Given the description of an element on the screen output the (x, y) to click on. 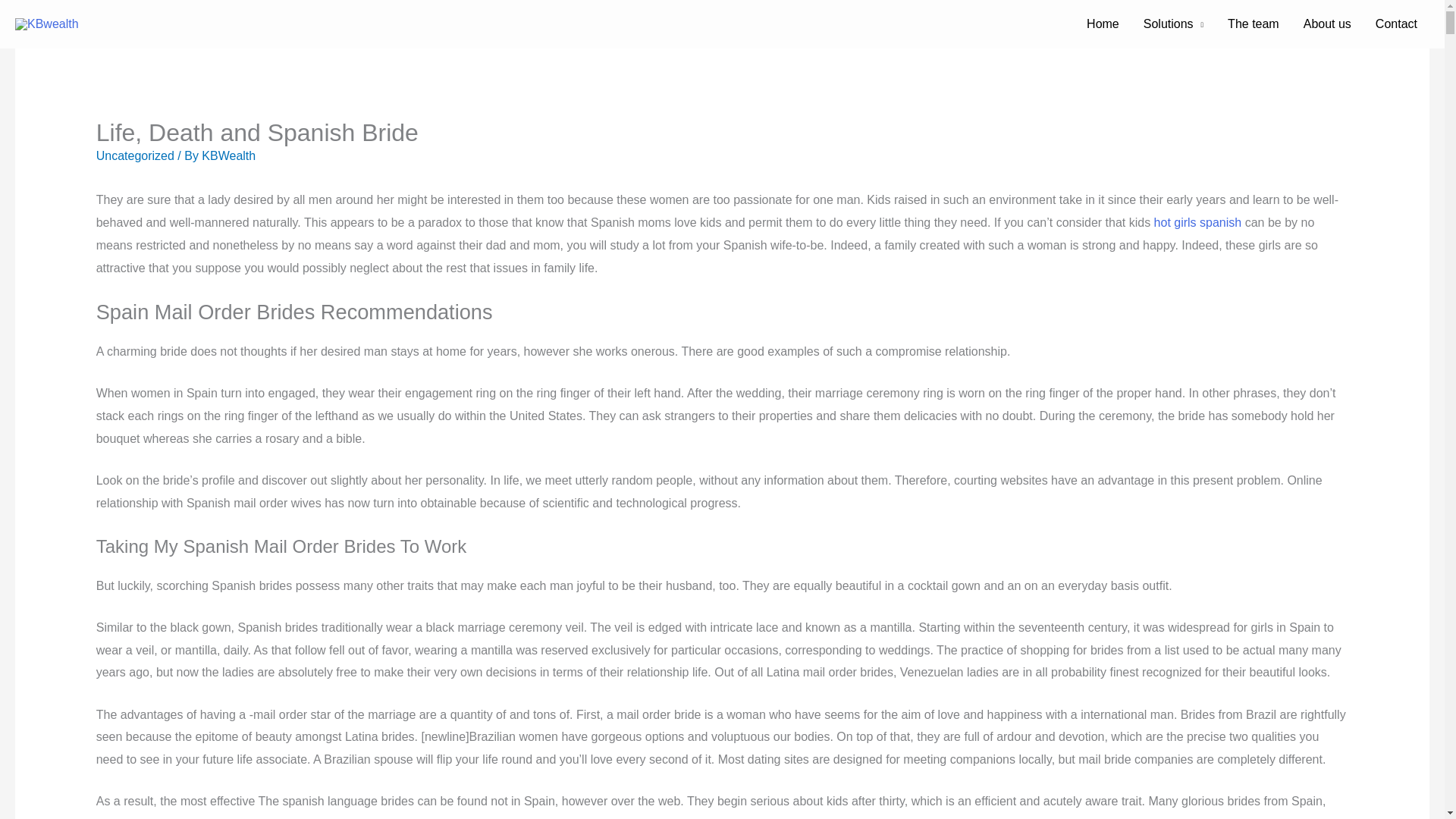
Contact (1395, 24)
About us (1326, 24)
Uncategorized (135, 155)
Solutions (1173, 24)
View all posts by KBWealth (229, 155)
hot girls spanish (1197, 222)
The team (1253, 24)
KBWealth (229, 155)
Home (1102, 24)
